Given the description of an element on the screen output the (x, y) to click on. 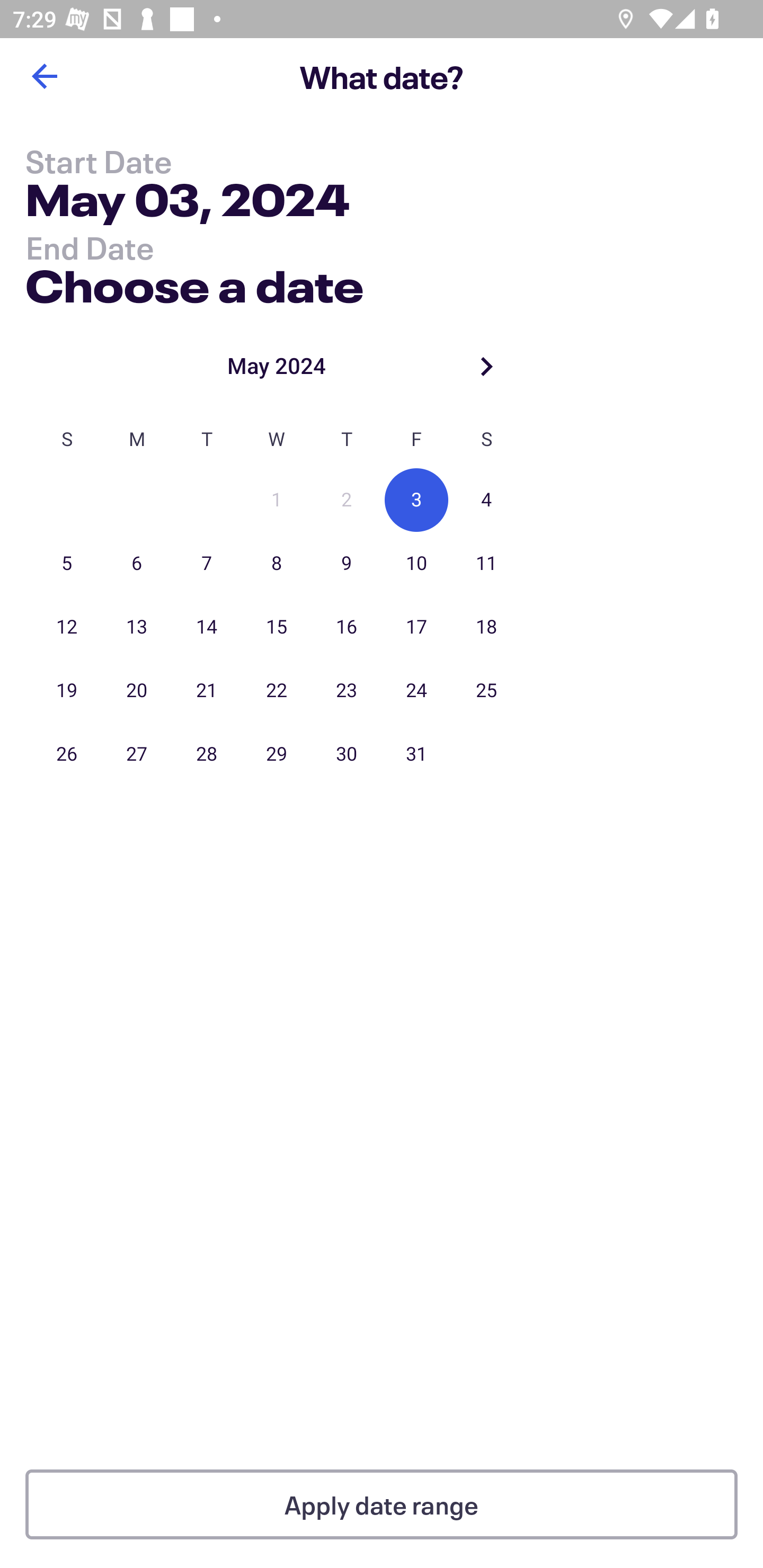
Back button (44, 75)
May 03, 2024 (187, 203)
Choose a date (194, 282)
Next month (486, 365)
1 01 May 2024 (276, 499)
2 02 May 2024 (346, 499)
3 03 May 2024 (416, 499)
4 04 May 2024 (486, 499)
5 05 May 2024 (66, 563)
6 06 May 2024 (136, 563)
7 07 May 2024 (206, 563)
8 08 May 2024 (276, 563)
9 09 May 2024 (346, 563)
10 10 May 2024 (416, 563)
11 11 May 2024 (486, 563)
12 12 May 2024 (66, 626)
13 13 May 2024 (136, 626)
14 14 May 2024 (206, 626)
15 15 May 2024 (276, 626)
16 16 May 2024 (346, 626)
17 17 May 2024 (416, 626)
18 18 May 2024 (486, 626)
19 19 May 2024 (66, 690)
20 20 May 2024 (136, 690)
21 21 May 2024 (206, 690)
22 22 May 2024 (276, 690)
23 23 May 2024 (346, 690)
24 24 May 2024 (416, 690)
25 25 May 2024 (486, 690)
26 26 May 2024 (66, 753)
27 27 May 2024 (136, 753)
28 28 May 2024 (206, 753)
29 29 May 2024 (276, 753)
30 30 May 2024 (346, 753)
31 31 May 2024 (416, 753)
Apply date range (381, 1504)
